Given the description of an element on the screen output the (x, y) to click on. 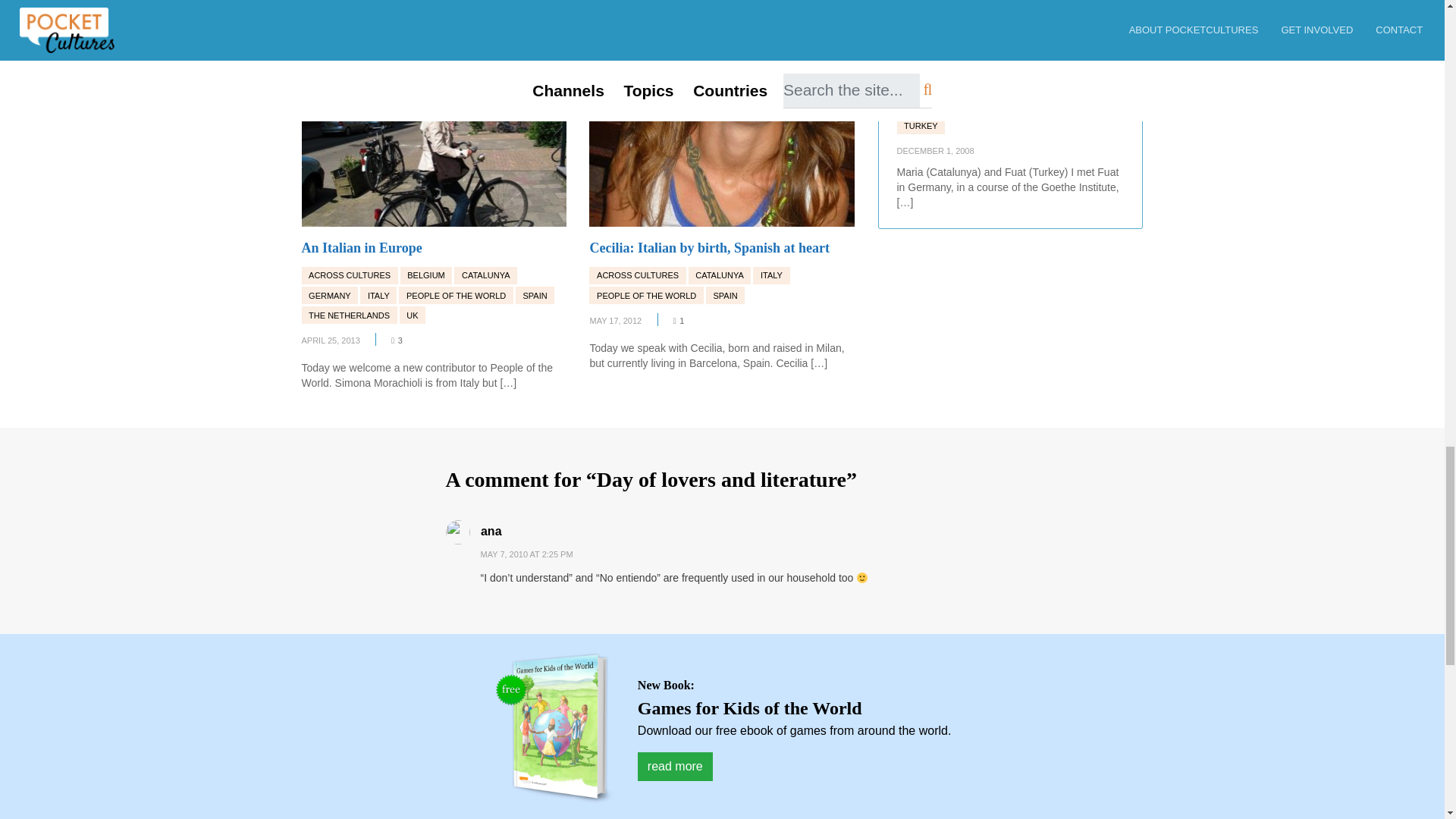
Games for Kids of the World (553, 727)
